Given the description of an element on the screen output the (x, y) to click on. 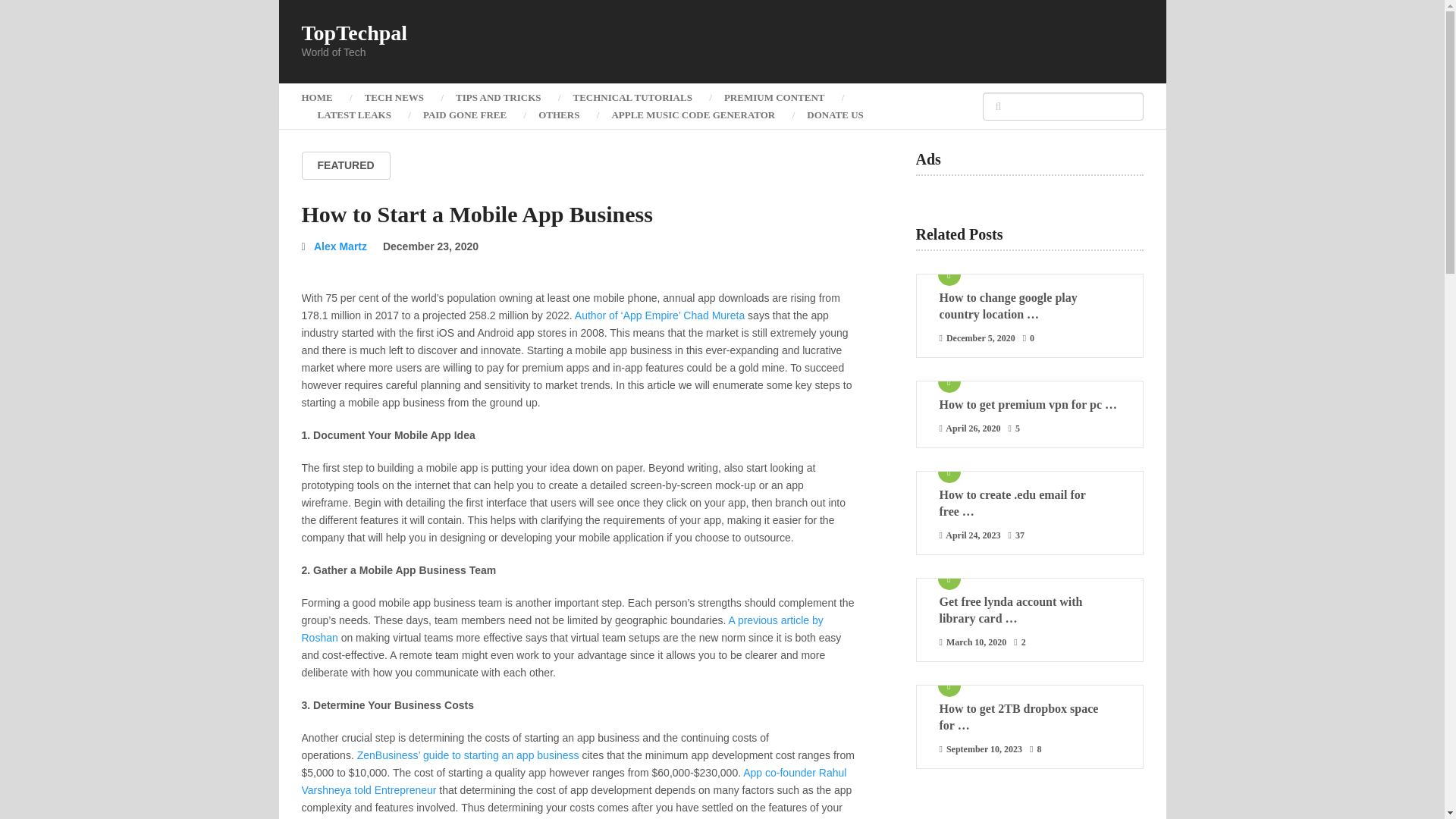
APPLE MUSIC CODE GENERATOR (692, 114)
FEATURED (345, 165)
LATEST LEAKS (354, 114)
Alex Martz (340, 246)
App co-founder Rahul Varshneya told Entrepreneur (574, 781)
DONATE US (834, 114)
PAID GONE FREE (464, 114)
Posts by Alex Martz (340, 246)
A previous article by Roshan (562, 628)
TECHNICAL TUTORIALS (632, 97)
